Given the description of an element on the screen output the (x, y) to click on. 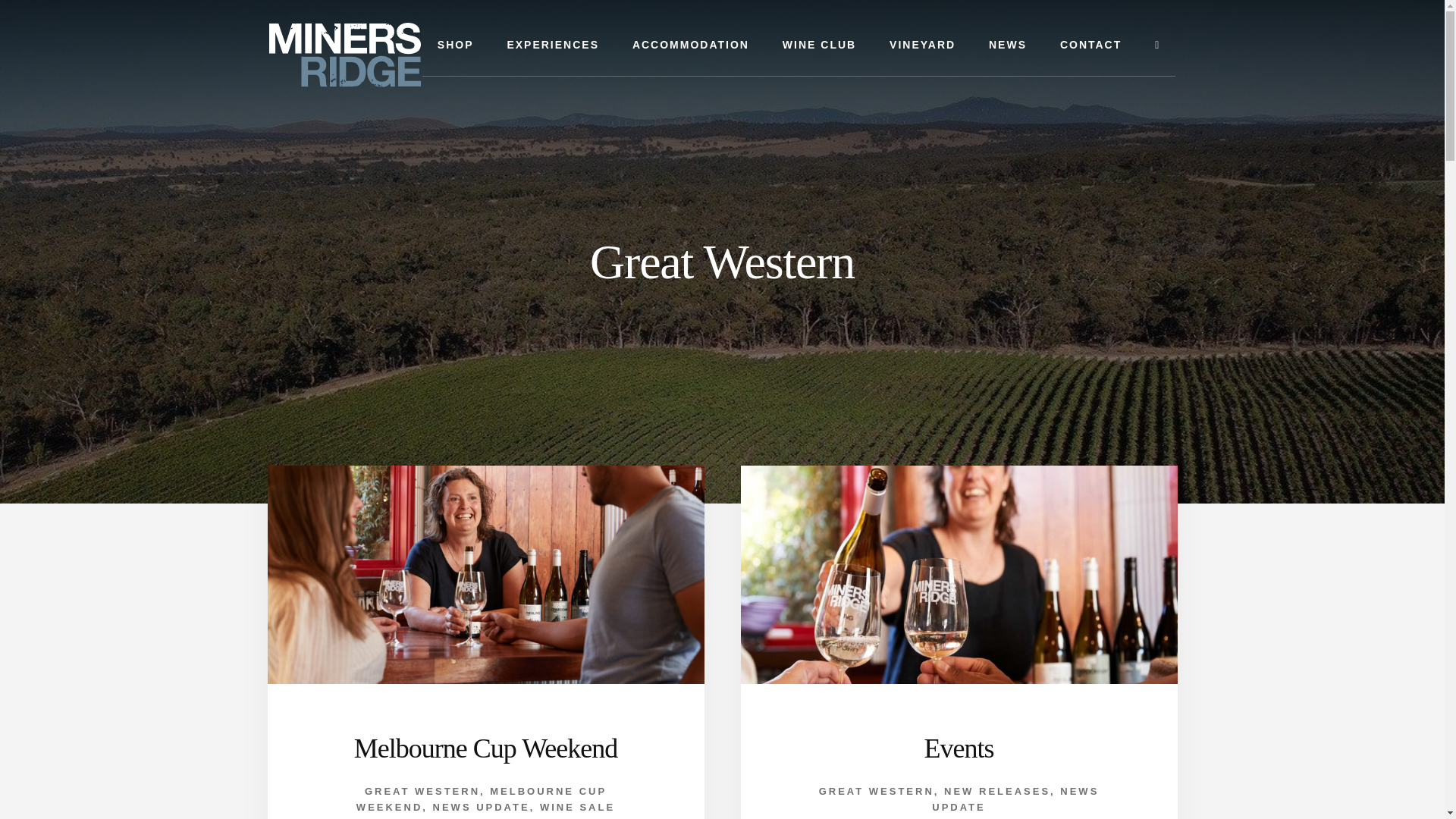
WINE CLUB (818, 45)
NEWS UPDATE (480, 807)
WINE SALE (577, 807)
VINEYARD (923, 45)
EXPERIENCES (553, 45)
ACCOMMODATION (690, 45)
MELBOURNE CUP WEEKEND (481, 799)
CONTACT (1091, 45)
SHOP (455, 45)
NEWS (1008, 45)
Melbourne Cup Weekend (485, 748)
GREAT WESTERN (422, 790)
